Given the description of an element on the screen output the (x, y) to click on. 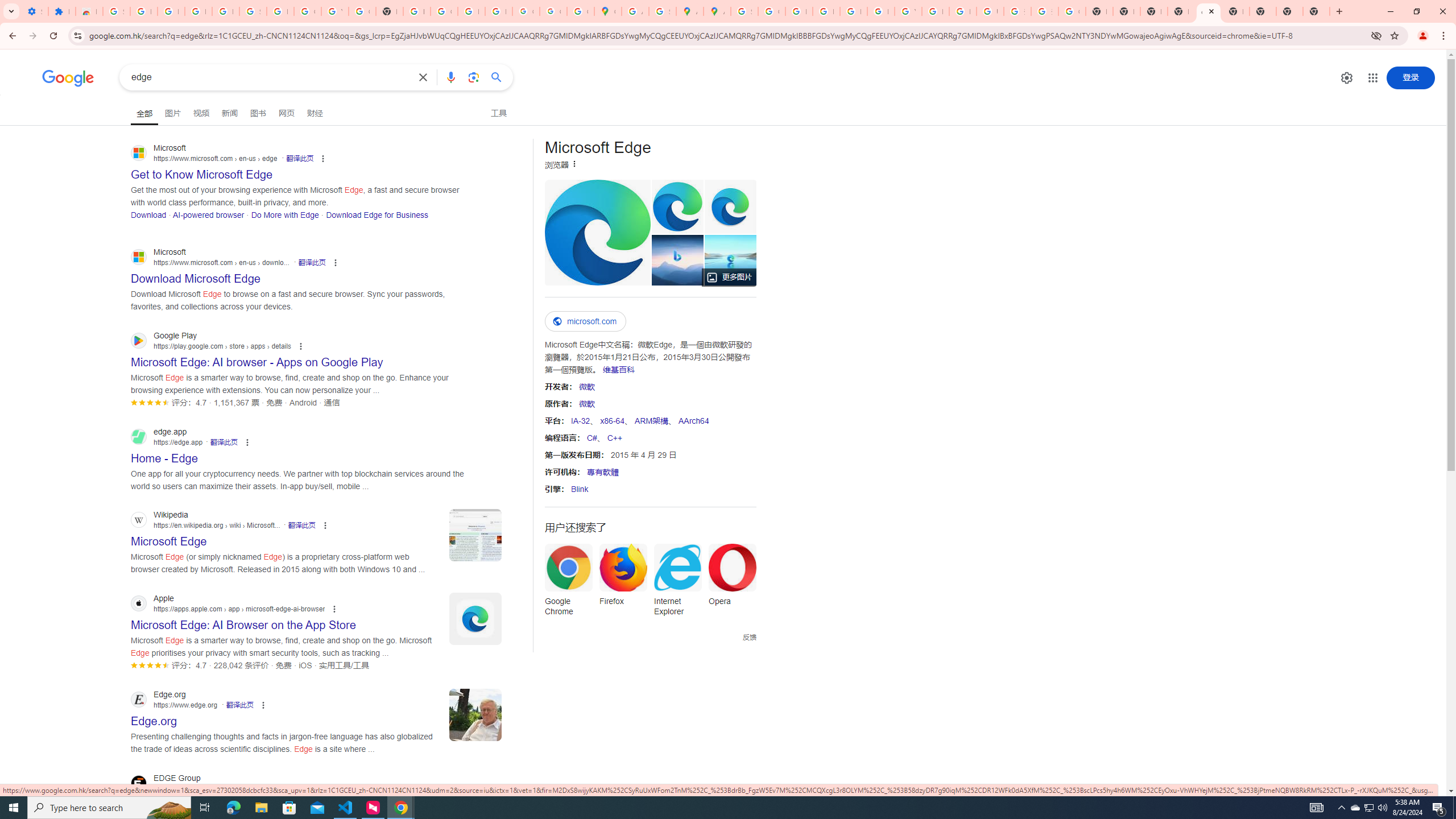
Google Images (1071, 11)
x86-64 (611, 420)
Sign in - Google Accounts (743, 11)
Delete photos & videos - Computer - Google Photos Help (170, 11)
https://scholar.google.com/ (416, 11)
Settings - On startup (34, 11)
